Given the description of an element on the screen output the (x, y) to click on. 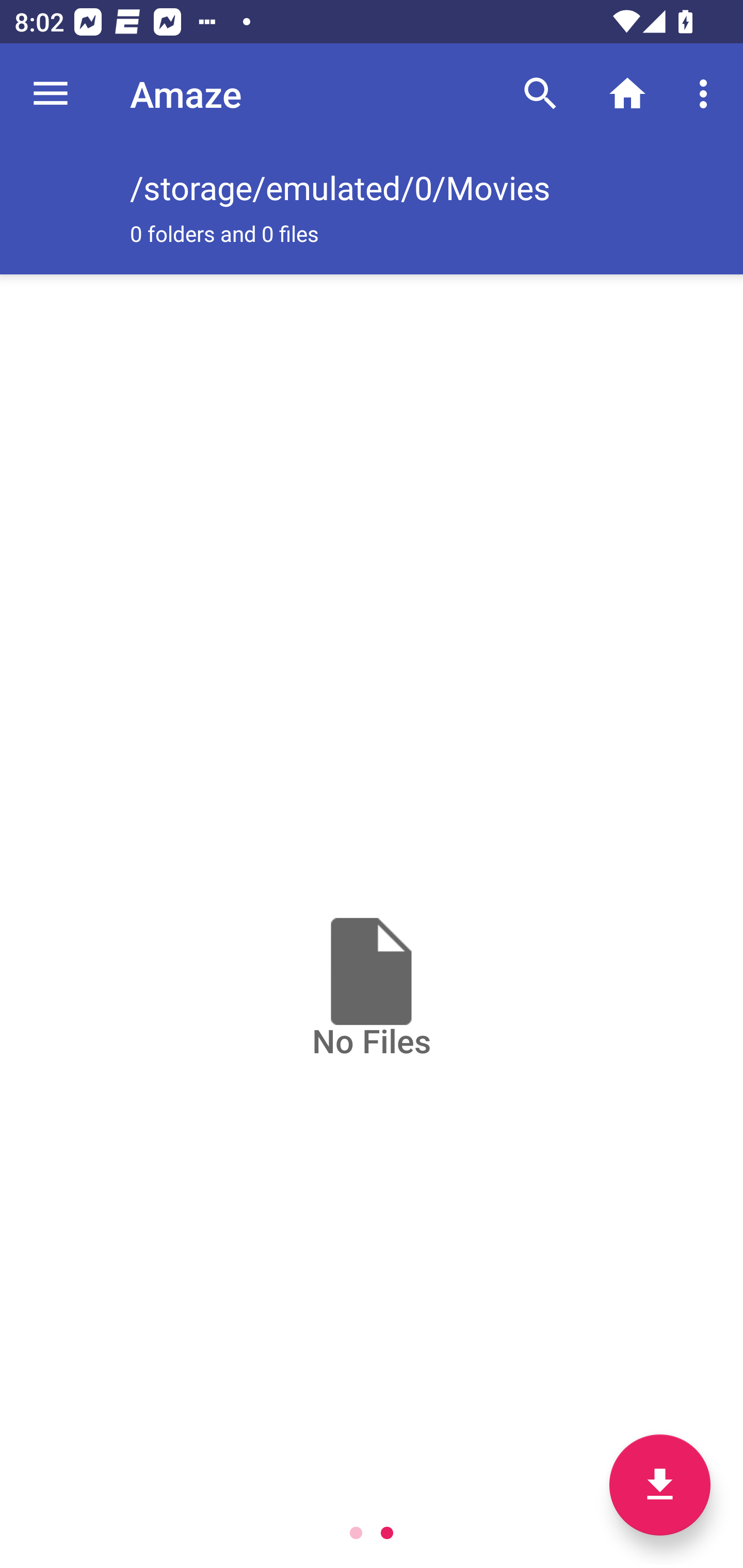
Navigate up (50, 93)
Search (540, 93)
Home (626, 93)
More options (706, 93)
